Given the description of an element on the screen output the (x, y) to click on. 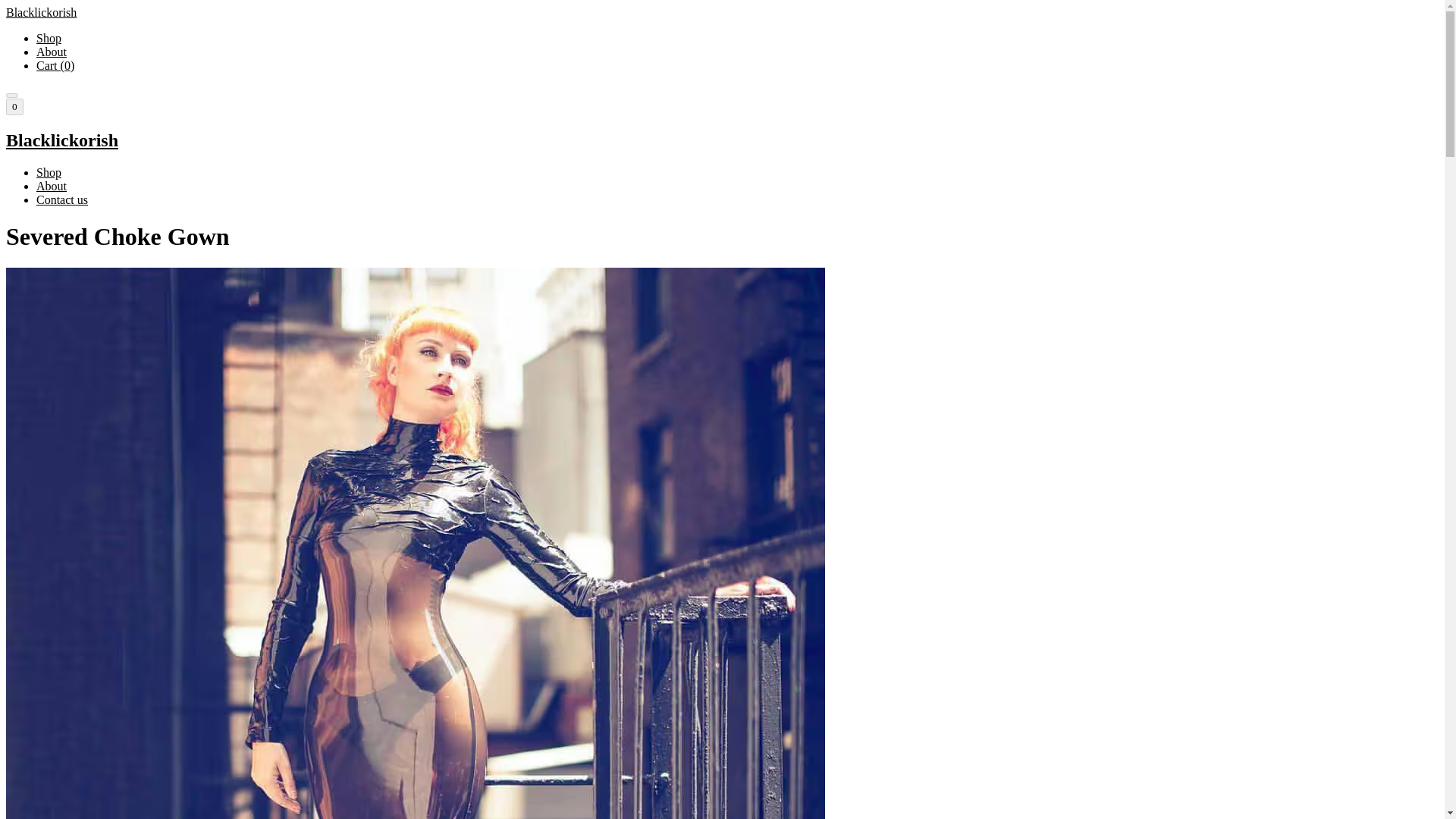
About (51, 185)
Shop (48, 38)
About (51, 51)
0 (14, 106)
Contact us (61, 199)
Shop (48, 172)
